Given the description of an element on the screen output the (x, y) to click on. 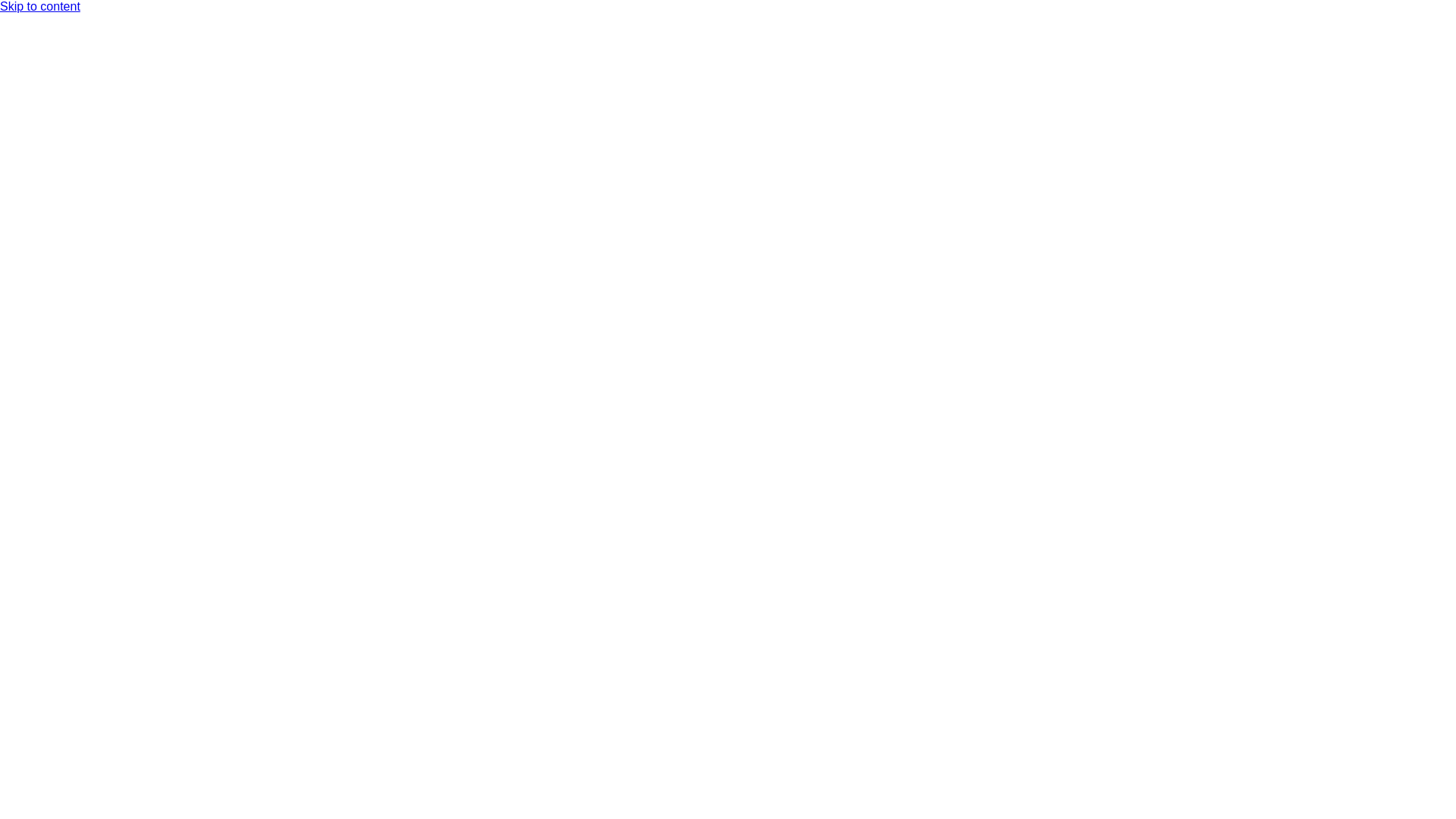
Skip to content Element type: text (40, 6)
